Given the description of an element on the screen output the (x, y) to click on. 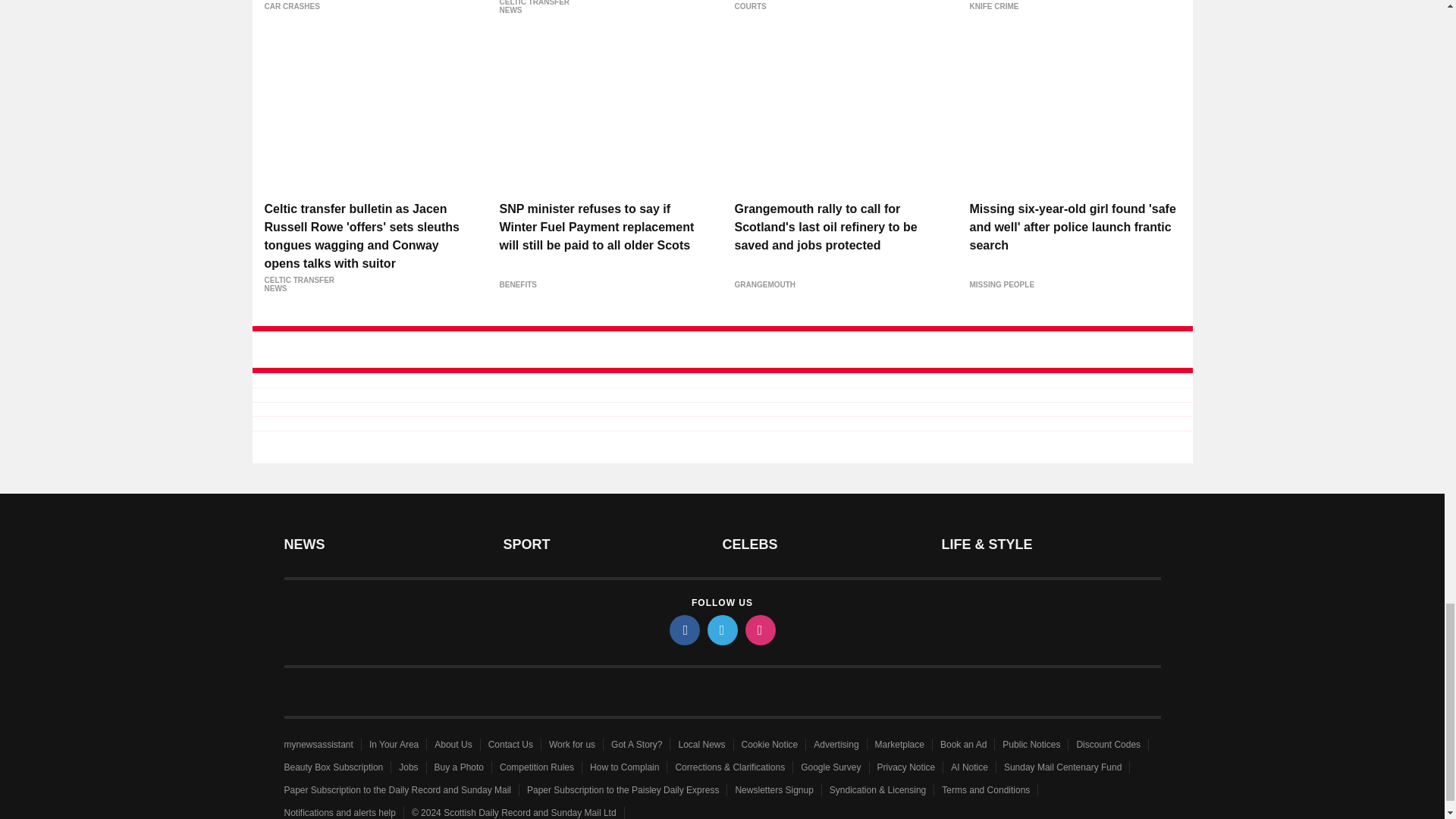
twitter (721, 630)
facebook (683, 630)
instagram (759, 630)
